Given the description of an element on the screen output the (x, y) to click on. 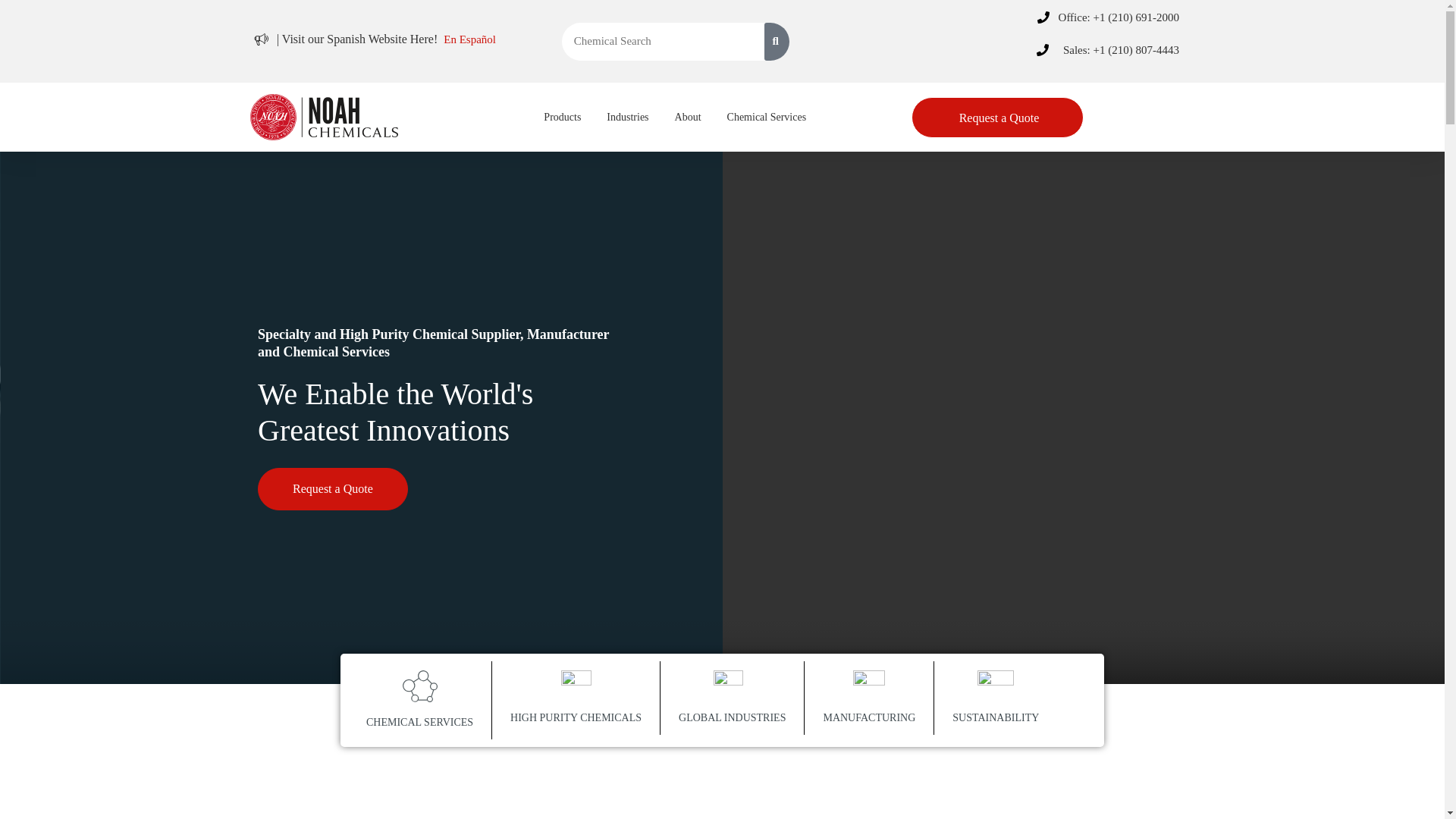
About (687, 116)
Industries (627, 116)
Products (561, 116)
Search (669, 41)
